Given the description of an element on the screen output the (x, y) to click on. 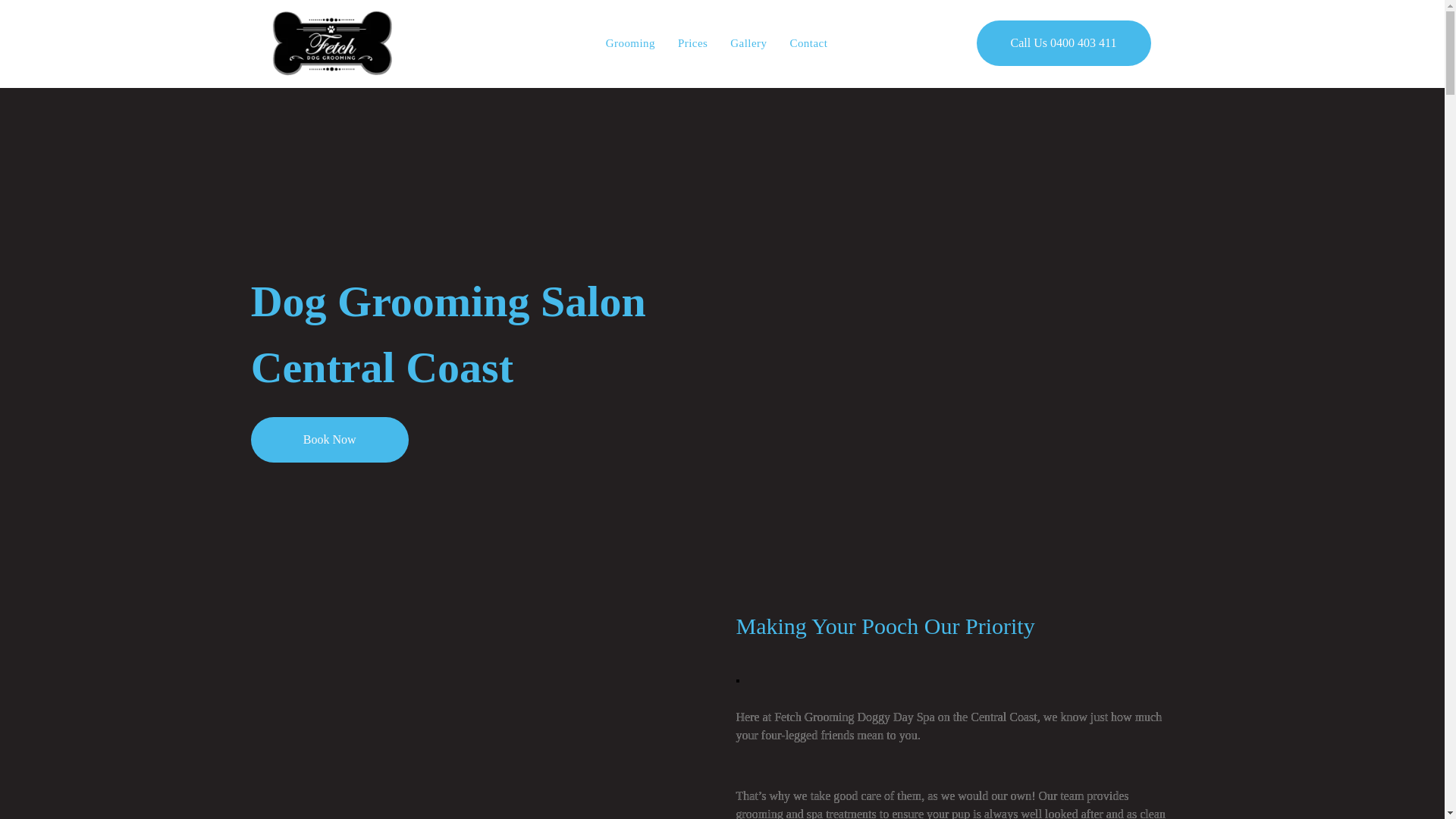
Gallery Element type: text (748, 43)
Contact Element type: text (808, 43)
Grooming Element type: text (630, 43)
Prices Element type: text (692, 43)
Call Us 0400 403 411 Element type: text (1063, 42)
Book Now Element type: text (329, 439)
Dog Grooming Central Coast | Fetch Dog Grooming Element type: hover (330, 43)
